Given the description of an element on the screen output the (x, y) to click on. 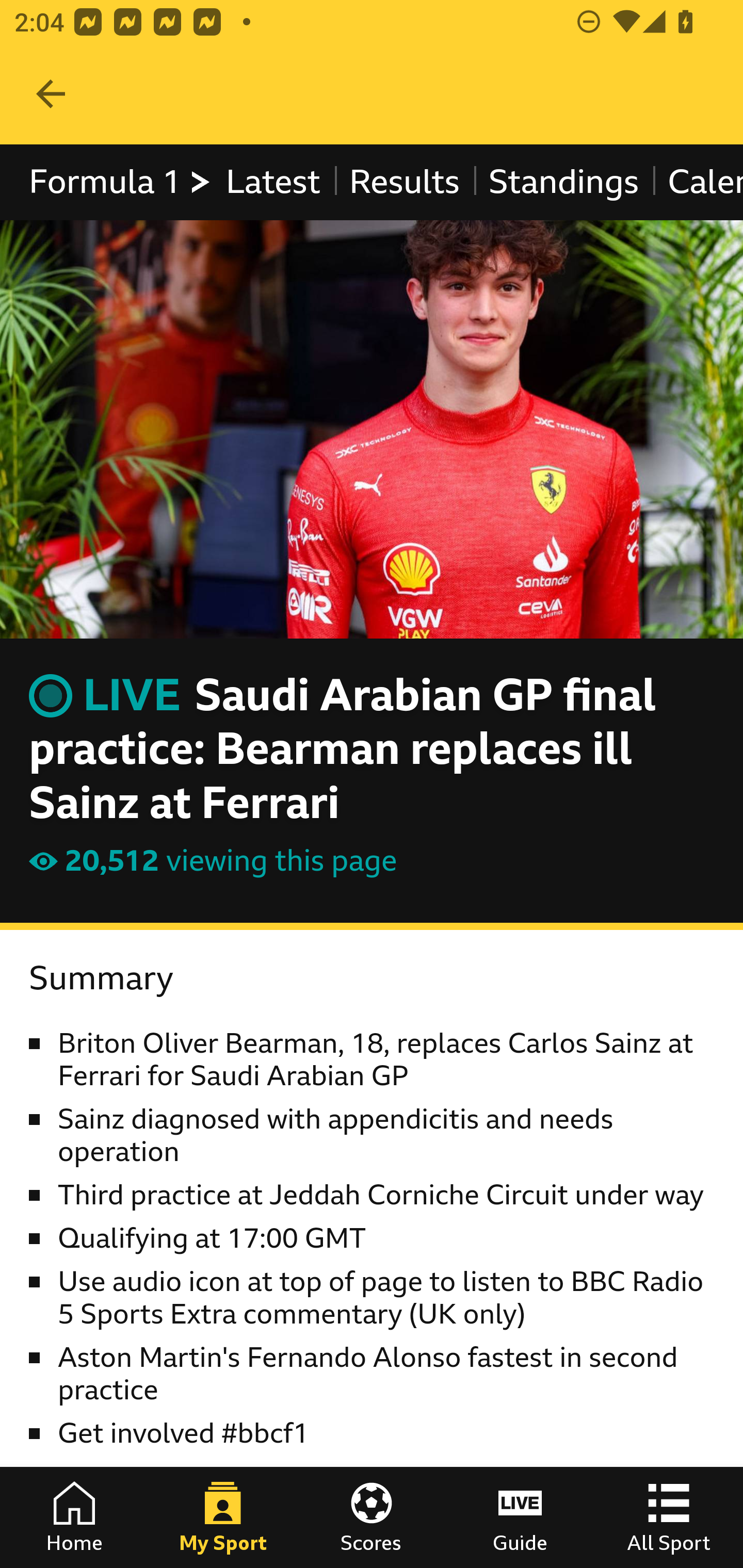
Navigate up (50, 93)
Formula 1  (120, 181)
Latest (272, 181)
Results (403, 181)
Standings (564, 181)
Home (74, 1517)
Scores (371, 1517)
Guide (519, 1517)
All Sport (668, 1517)
